Given the description of an element on the screen output the (x, y) to click on. 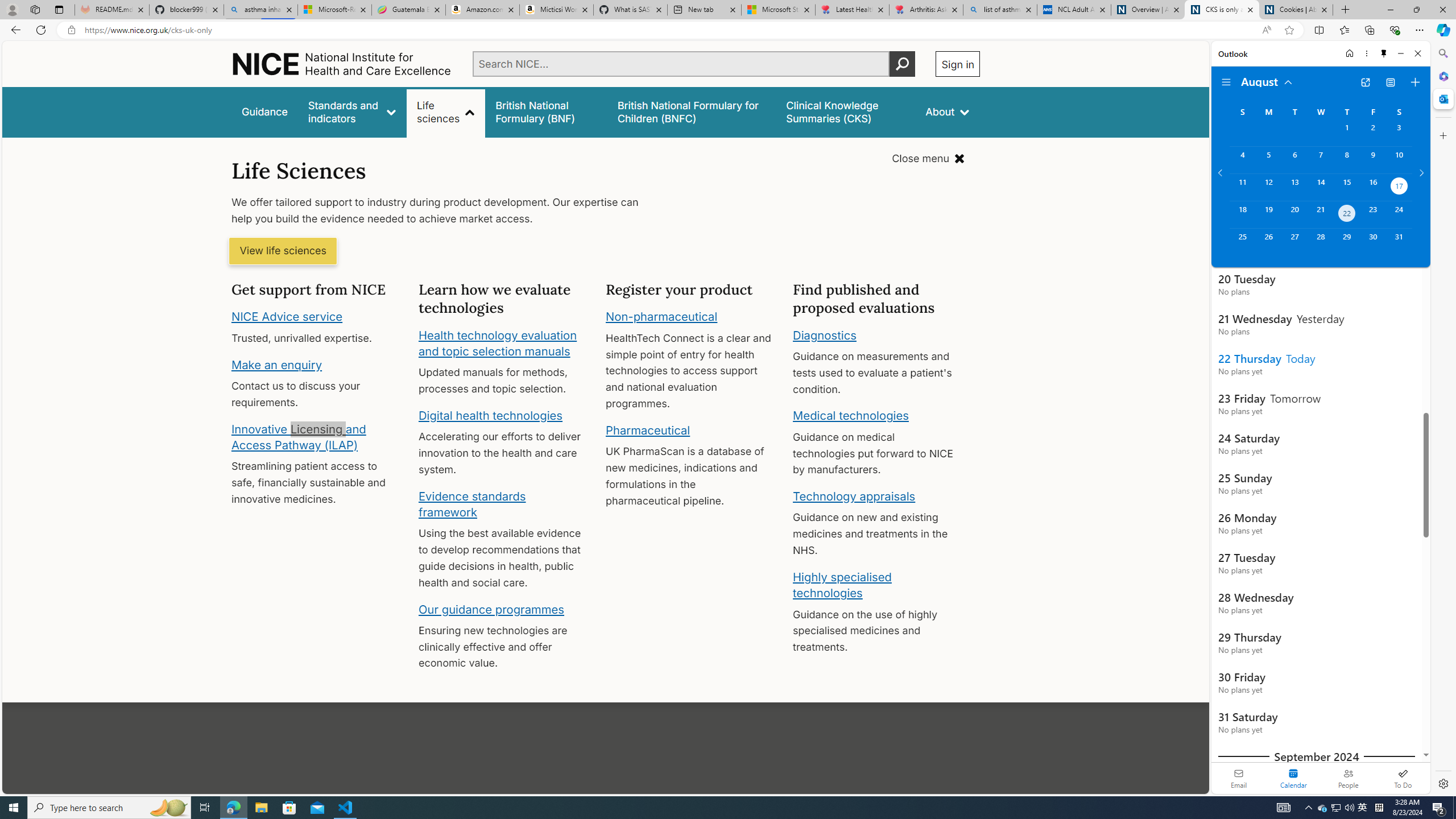
Folder navigation (1225, 82)
Wednesday, August 14, 2024.  (1320, 186)
Friday, August 9, 2024.  (1372, 159)
Medical technologies (850, 415)
Arthritis: Ask Health Professionals (925, 9)
View life sciences (282, 251)
